Given the description of an element on the screen output the (x, y) to click on. 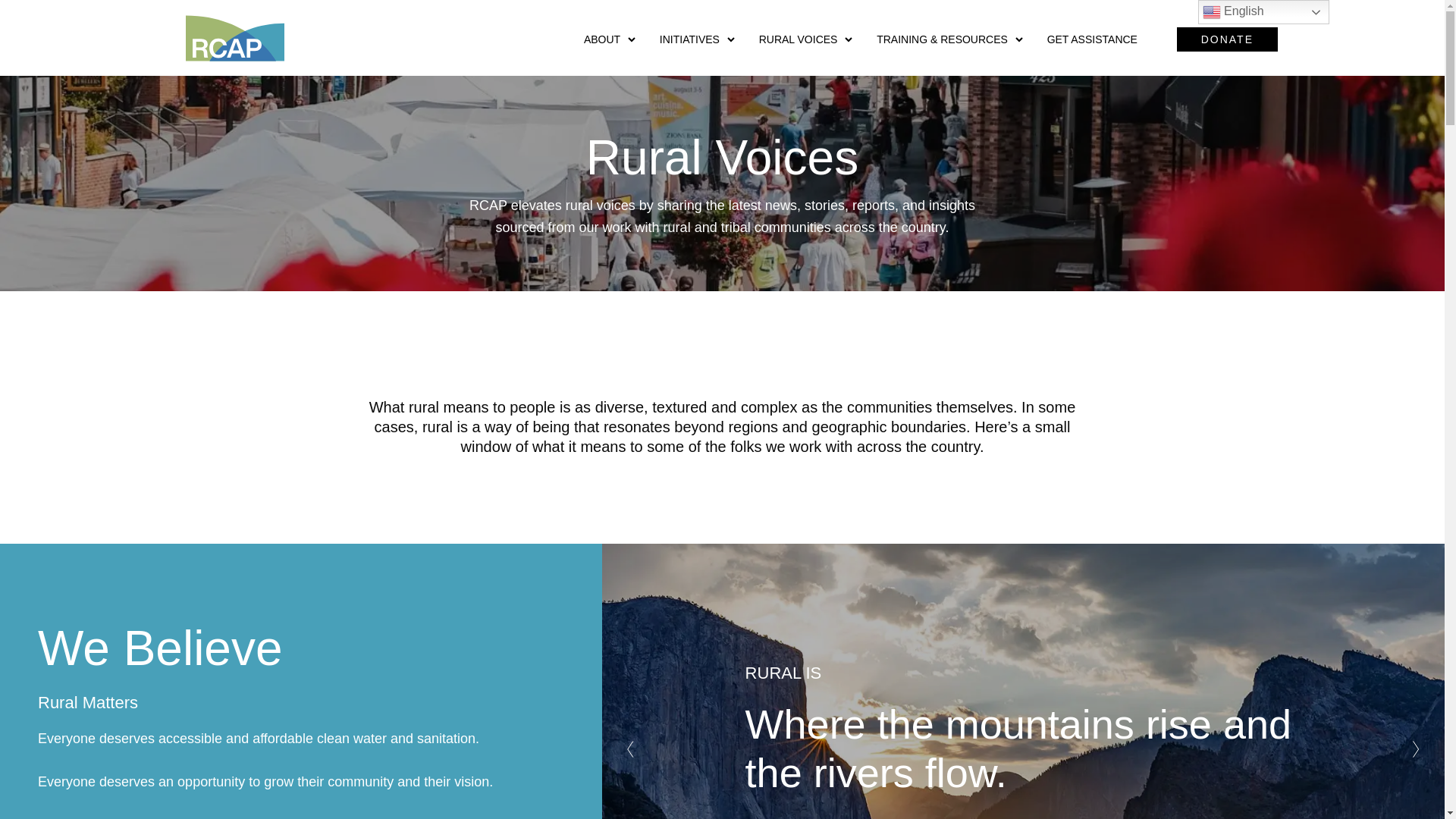
DONATE (1227, 39)
GET ASSISTANCE (1099, 39)
RURAL VOICES (805, 39)
ABOUT (608, 39)
INITIATIVES (697, 39)
